Given the description of an element on the screen output the (x, y) to click on. 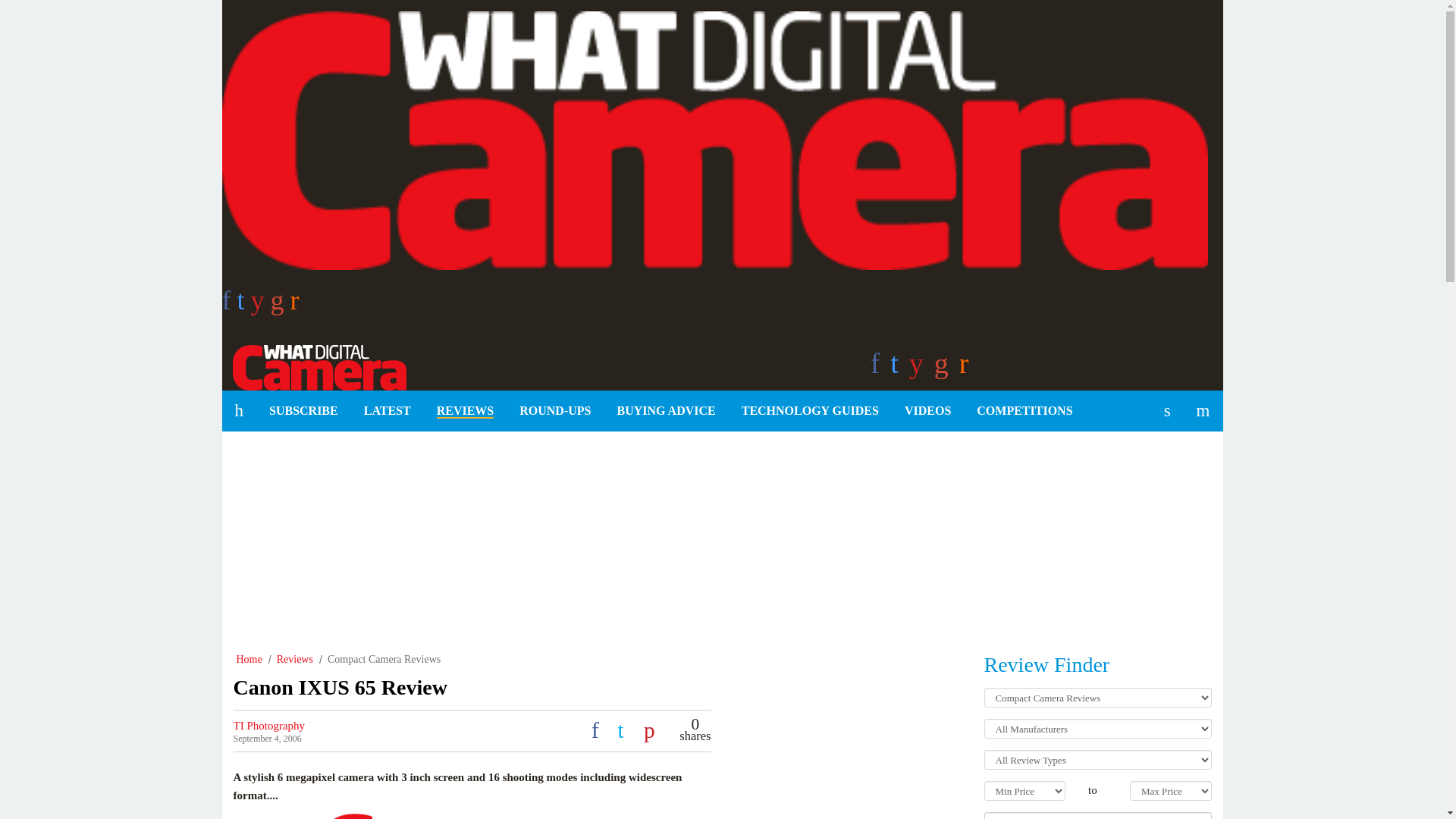
ROUND-UPS (555, 410)
What Digital Camera (313, 365)
g (279, 305)
BUYING ADVICE (666, 410)
f (228, 305)
y (260, 305)
What Digital Camera (313, 365)
LATEST (386, 410)
SUBSCRIBE (303, 410)
REVIEWS (464, 410)
